Given the description of an element on the screen output the (x, y) to click on. 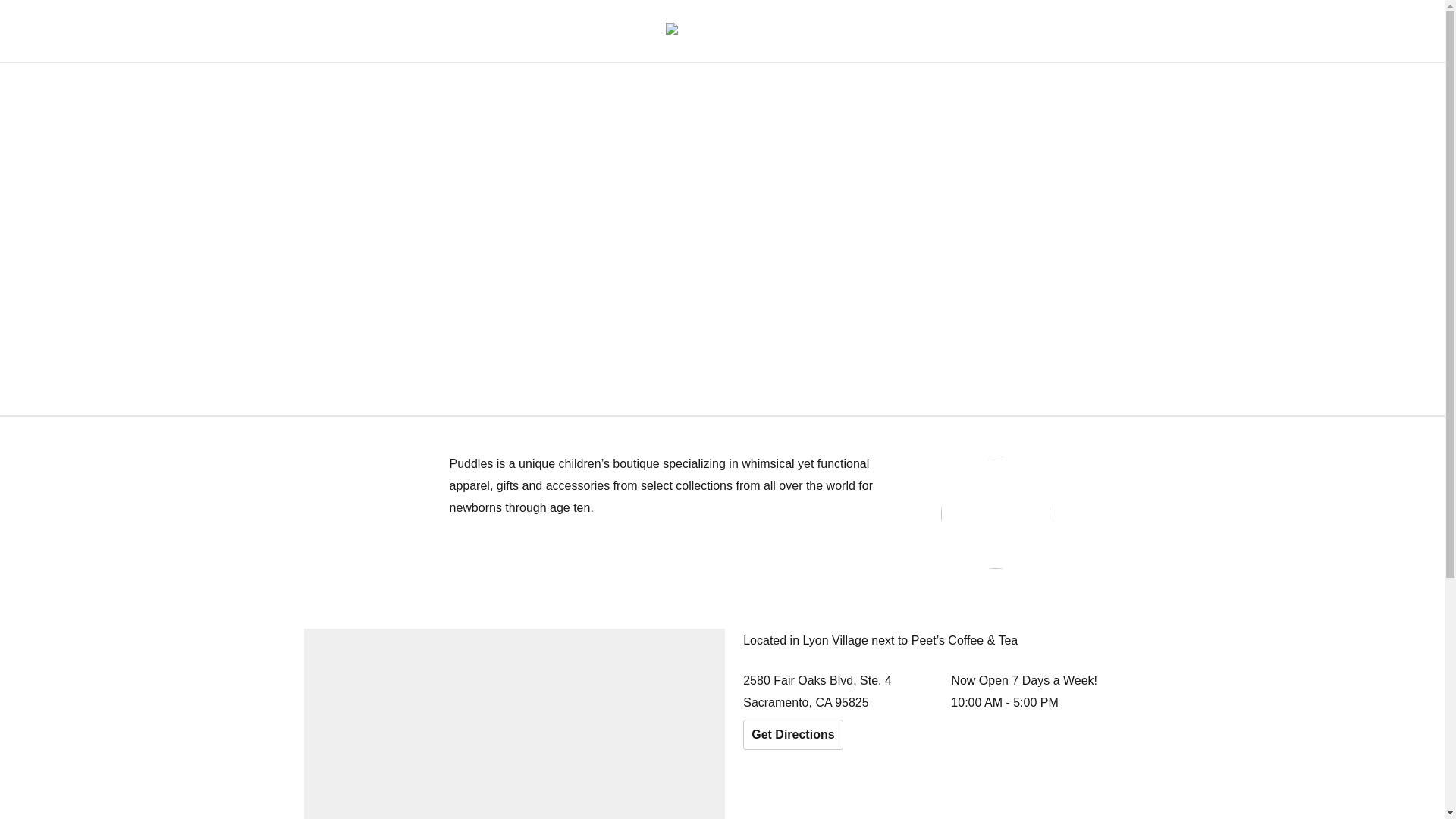
Location on map (513, 723)
Get Directions (792, 734)
